Given the description of an element on the screen output the (x, y) to click on. 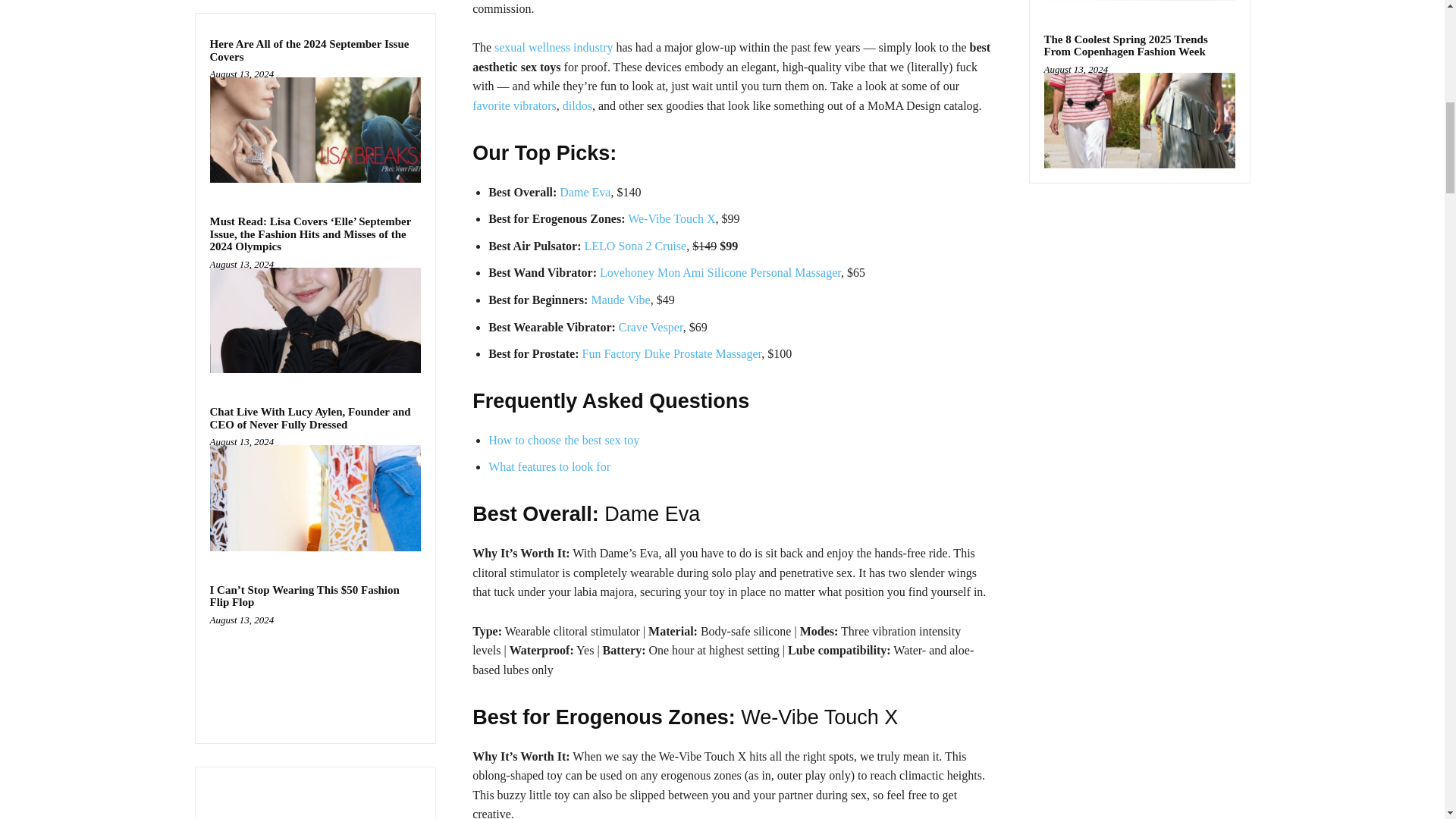
Here Are All of the 2024 September Issue Covers (309, 50)
Here Are All of the 2024 September Issue Covers (314, 129)
Here Are All of the 2024 September Issue Covers (309, 50)
